Given the description of an element on the screen output the (x, y) to click on. 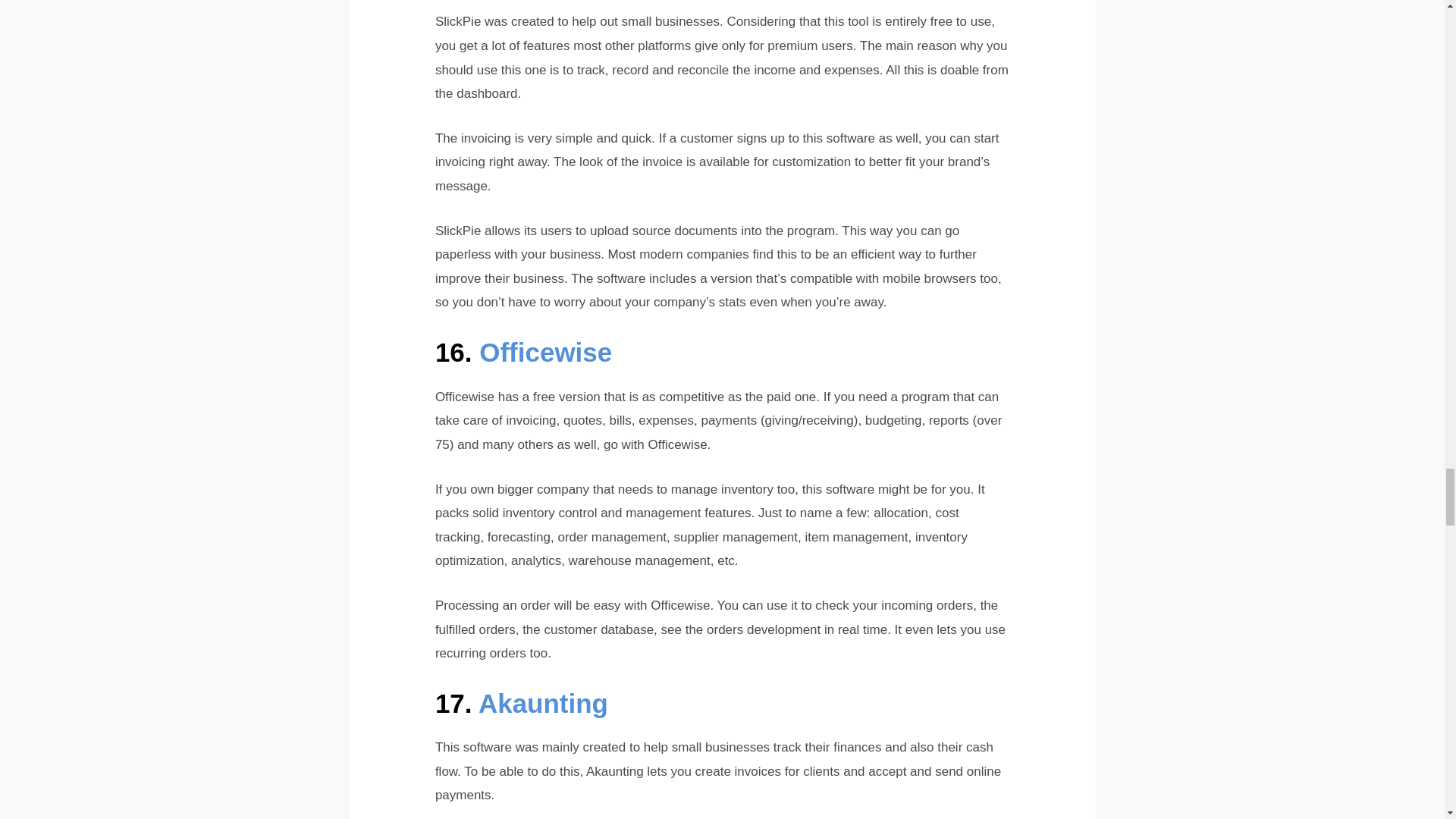
Officewise (545, 351)
Akaunting (543, 703)
